Given the description of an element on the screen output the (x, y) to click on. 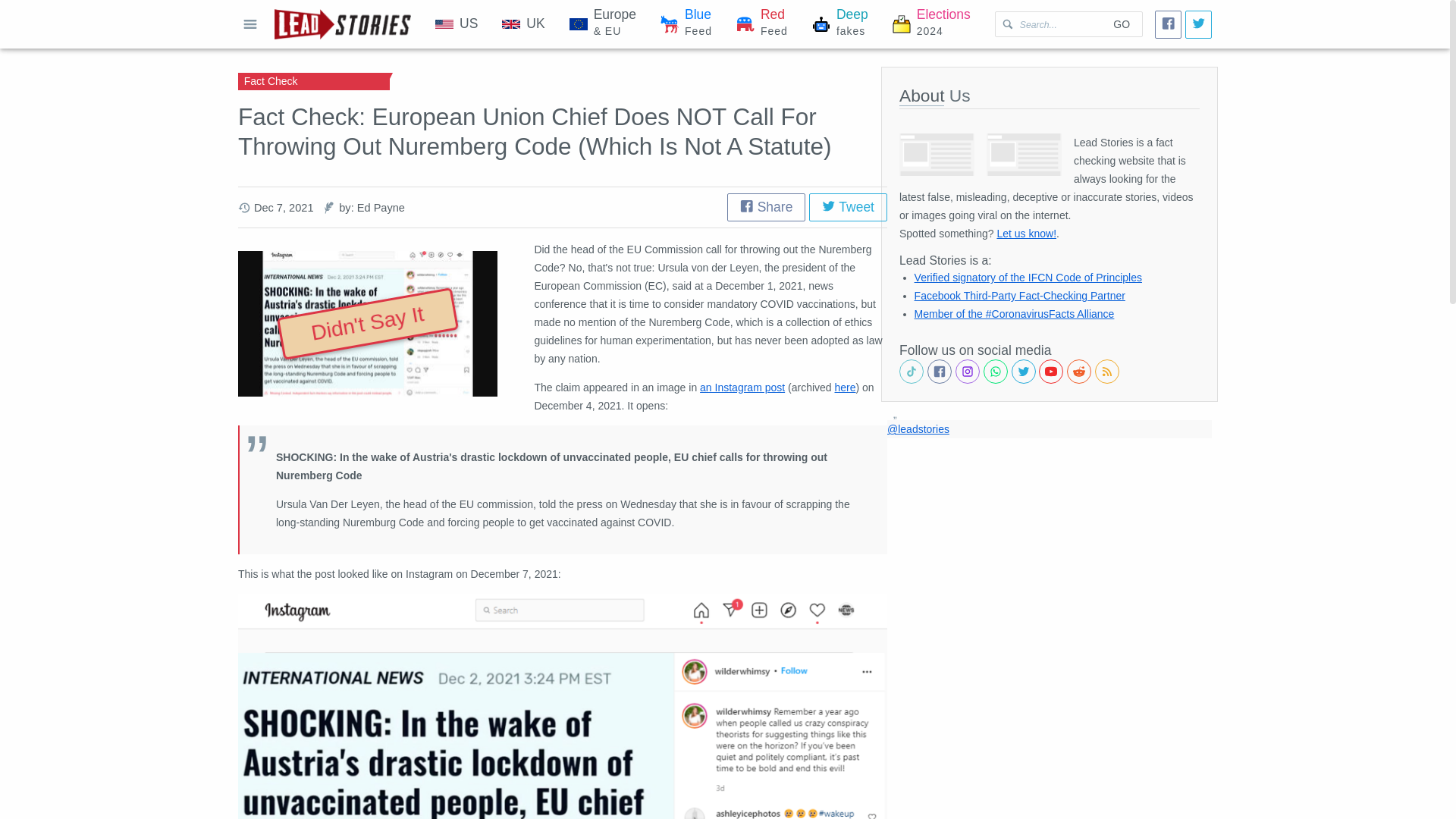
Let us know! (1026, 233)
Verified signatory of the IFCN Code of Principles (1027, 277)
Facebook Third-Party Fact-Checking Partner (1019, 295)
Tweet (761, 24)
Share (847, 207)
US (765, 207)
an Instagram post (456, 24)
GO (742, 387)
here (1120, 24)
OPEN FULL MENU (845, 387)
UK (685, 24)
